Given the description of an element on the screen output the (x, y) to click on. 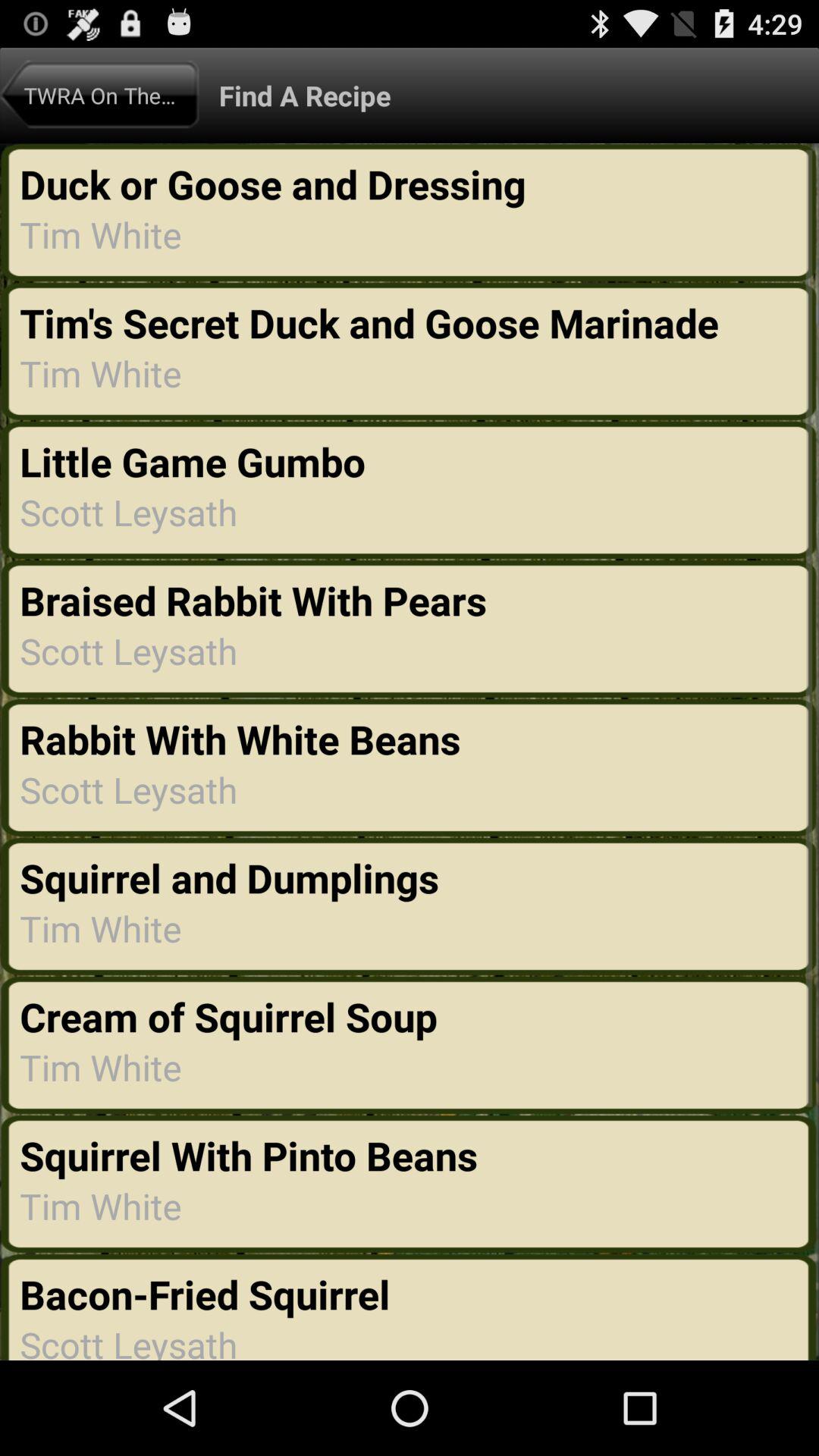
choose icon above the duck or goose (99, 95)
